Given the description of an element on the screen output the (x, y) to click on. 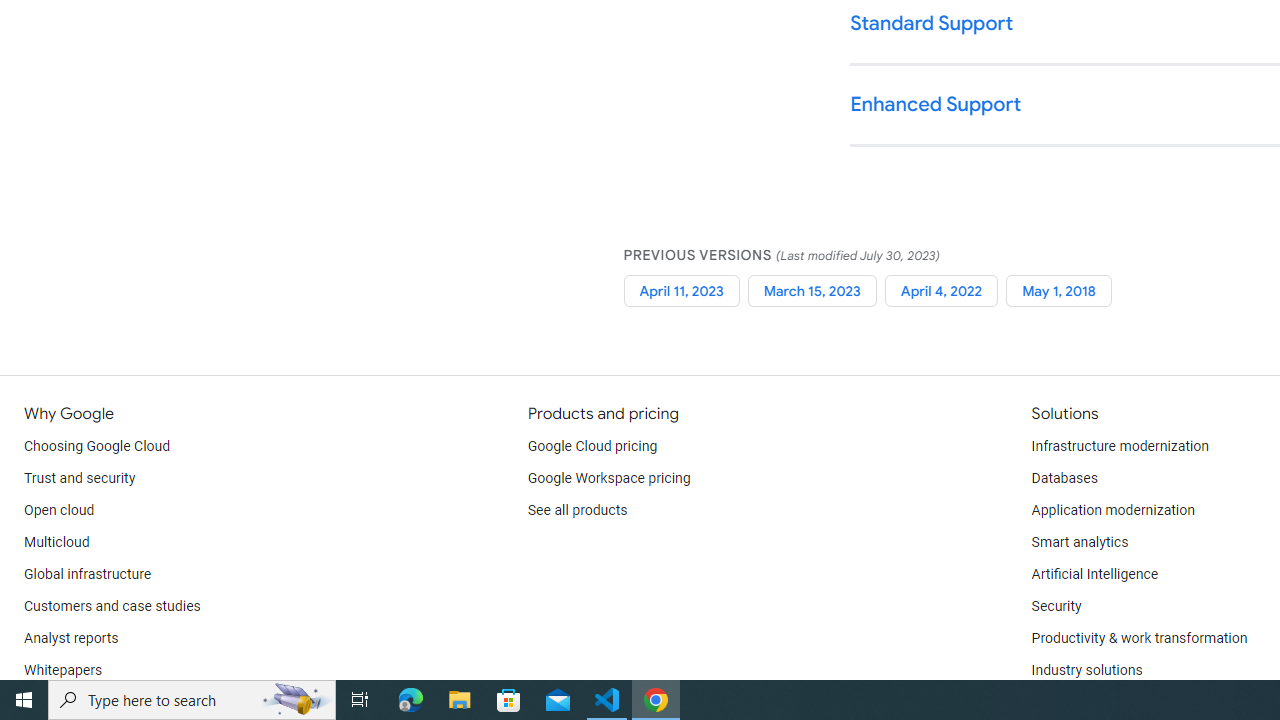
Security (1055, 606)
Whitepapers (63, 670)
Open cloud (59, 511)
Analyst reports (71, 638)
April 4, 2022 (941, 290)
Databases (1064, 478)
Industry solutions (1086, 670)
Infrastructure modernization (1119, 446)
Global infrastructure (88, 574)
Trust and security (79, 478)
Productivity & work transformation (1139, 638)
May 1, 2018 (1059, 290)
Smart analytics (1079, 542)
March 15, 2023 (811, 290)
